Given the description of an element on the screen output the (x, y) to click on. 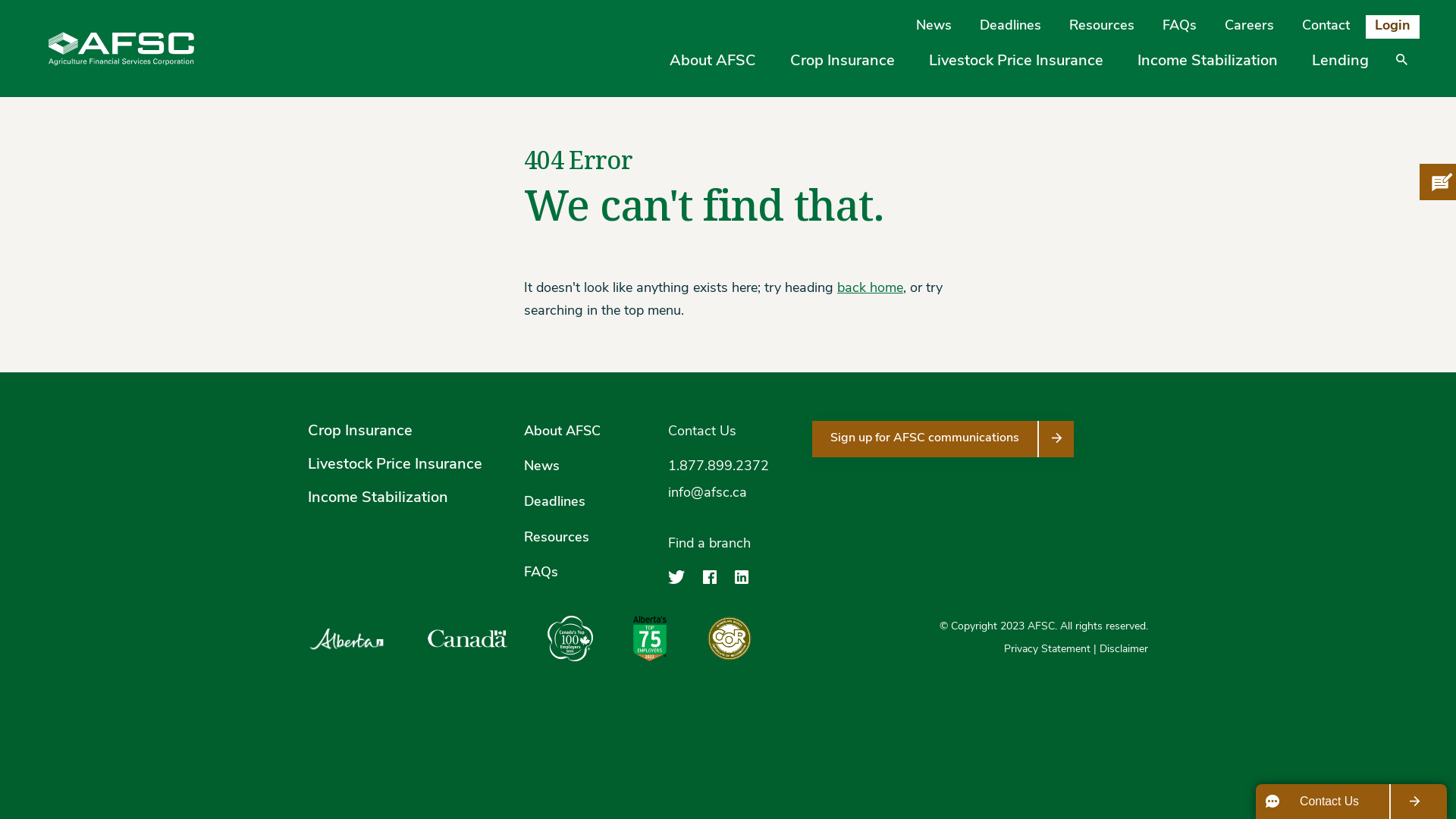
FAQs Element type: text (541, 572)
Income Stabilization Element type: text (377, 497)
Crop Insurance Element type: text (359, 431)
Lending Element type: text (1339, 61)
Deadlines Element type: text (554, 502)
FAQs Element type: text (1179, 26)
Privacy Statement Element type: text (1047, 649)
info@afsc.ca Element type: text (707, 493)
About AFSC Element type: text (562, 431)
Crop Insurance Element type: text (842, 61)
Livestock Price Insurance Element type: text (1015, 61)
Deadlines Element type: text (1010, 26)
Sign up for AFSC communications Element type: text (942, 438)
News Element type: text (541, 466)
Disclaimer Element type: text (1123, 649)
1.877.899.2372 Element type: text (718, 466)
Contact Element type: text (1325, 26)
Careers Element type: text (1249, 26)
Income Stabilization Element type: text (1207, 61)
Login Element type: text (1392, 26)
Livestock Price Insurance Element type: text (394, 464)
Resources Element type: text (556, 537)
Contact Us Element type: text (702, 431)
Agriculture Financial Services Corporation on Twitter Element type: text (675, 579)
back home Element type: text (870, 288)
News Element type: text (933, 26)
Agriculture Financial Services Corporation on LinkedIn Element type: text (741, 579)
Agriculture Financial Services Corporation on Facebook Element type: text (709, 579)
Resources Element type: text (1101, 26)
About AFSC Element type: text (712, 61)
Find a branch Element type: text (727, 544)
